Given the description of an element on the screen output the (x, y) to click on. 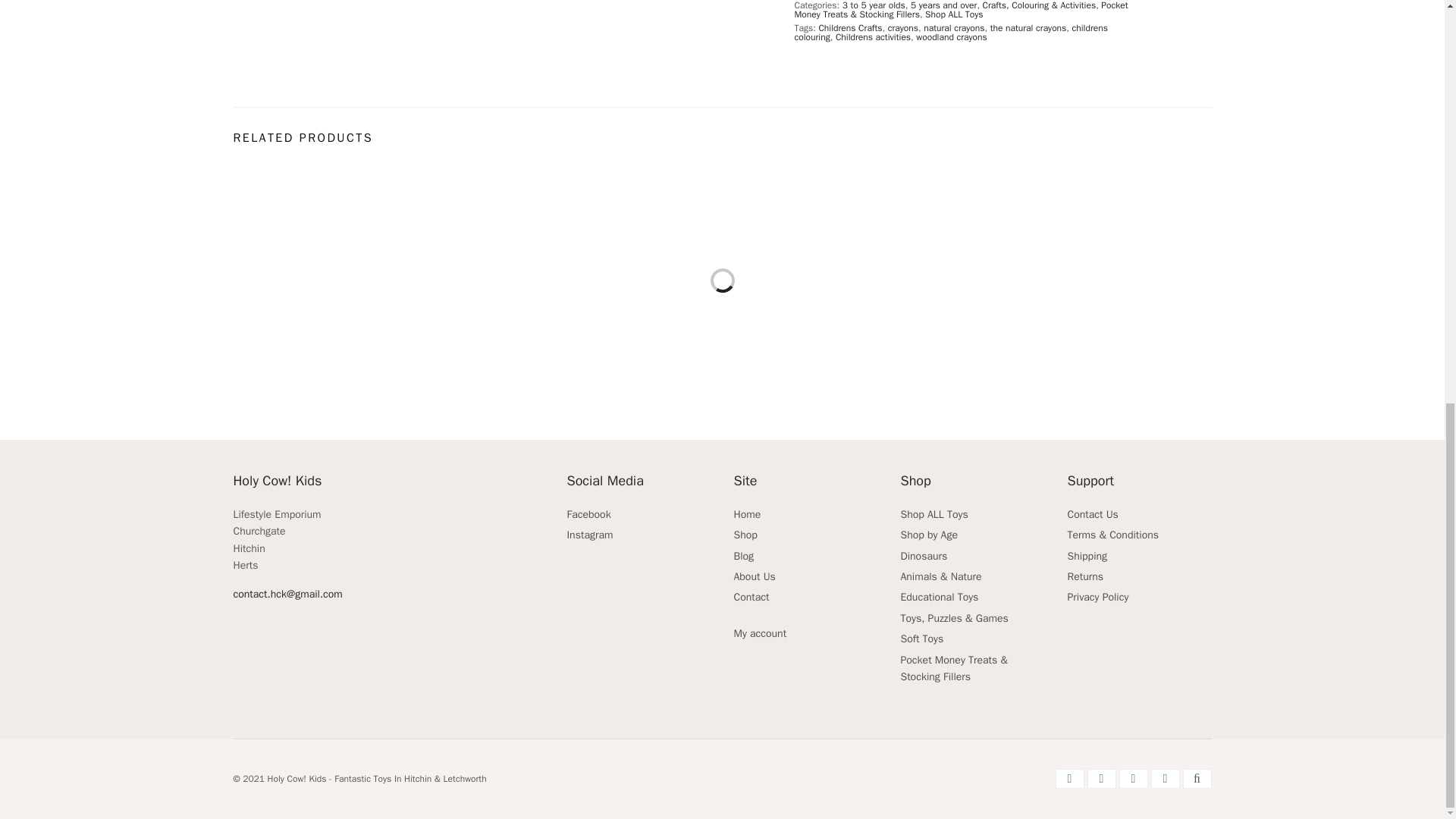
3 to 5 year olds (874, 5)
Shop ALL Toys (954, 14)
woodland crayons (951, 37)
crayons (903, 28)
Ocean Book (346, 280)
the natural crayons (1028, 28)
Bugs Set of 4 Crayons (597, 280)
Dinosaur Set of 8 Crayons (1097, 280)
Make Your Own Shark Keyring Kit (846, 280)
5 years and over (943, 5)
childrens colouring (951, 32)
natural crayons (953, 28)
Childrens activities (873, 37)
Childrens Crafts (850, 28)
